Given the description of an element on the screen output the (x, y) to click on. 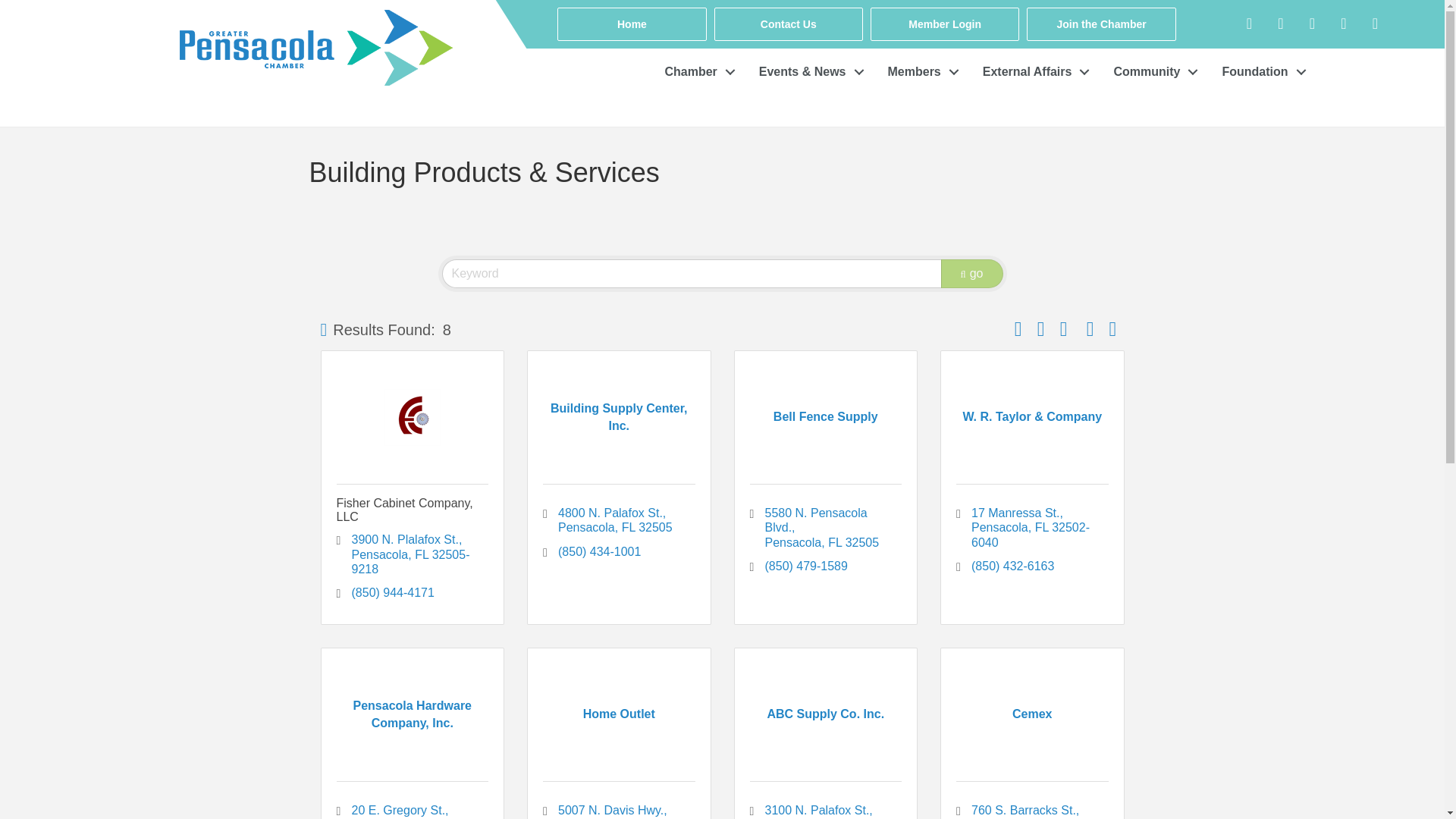
link-to-home-page (276, 24)
Contact Us (788, 23)
pensacola-chamber-logo-xsm (315, 47)
Member Login (944, 23)
Members (919, 72)
Home (631, 23)
Contact These Businesses (1113, 328)
Join the Chamber (1100, 23)
Chamber (695, 72)
